Given the description of an element on the screen output the (x, y) to click on. 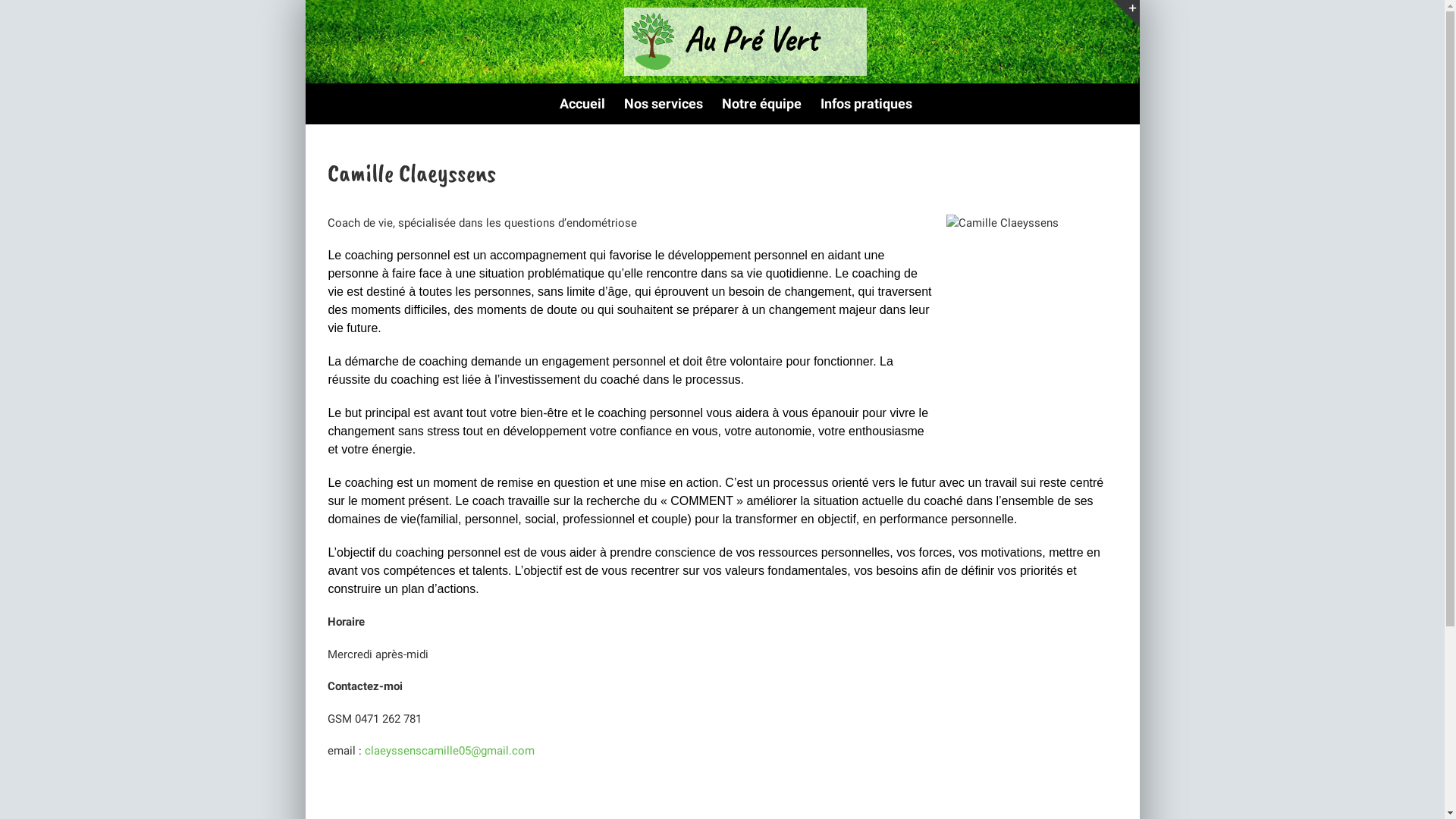
Infos pratiques Element type: text (866, 103)
Nos services Element type: text (662, 103)
Toggle Sliding Bar Area Element type: text (1125, 13)
claeyssenscamille05@gmail.com Element type: text (449, 750)
Accueil Element type: text (582, 103)
